Given the description of an element on the screen output the (x, y) to click on. 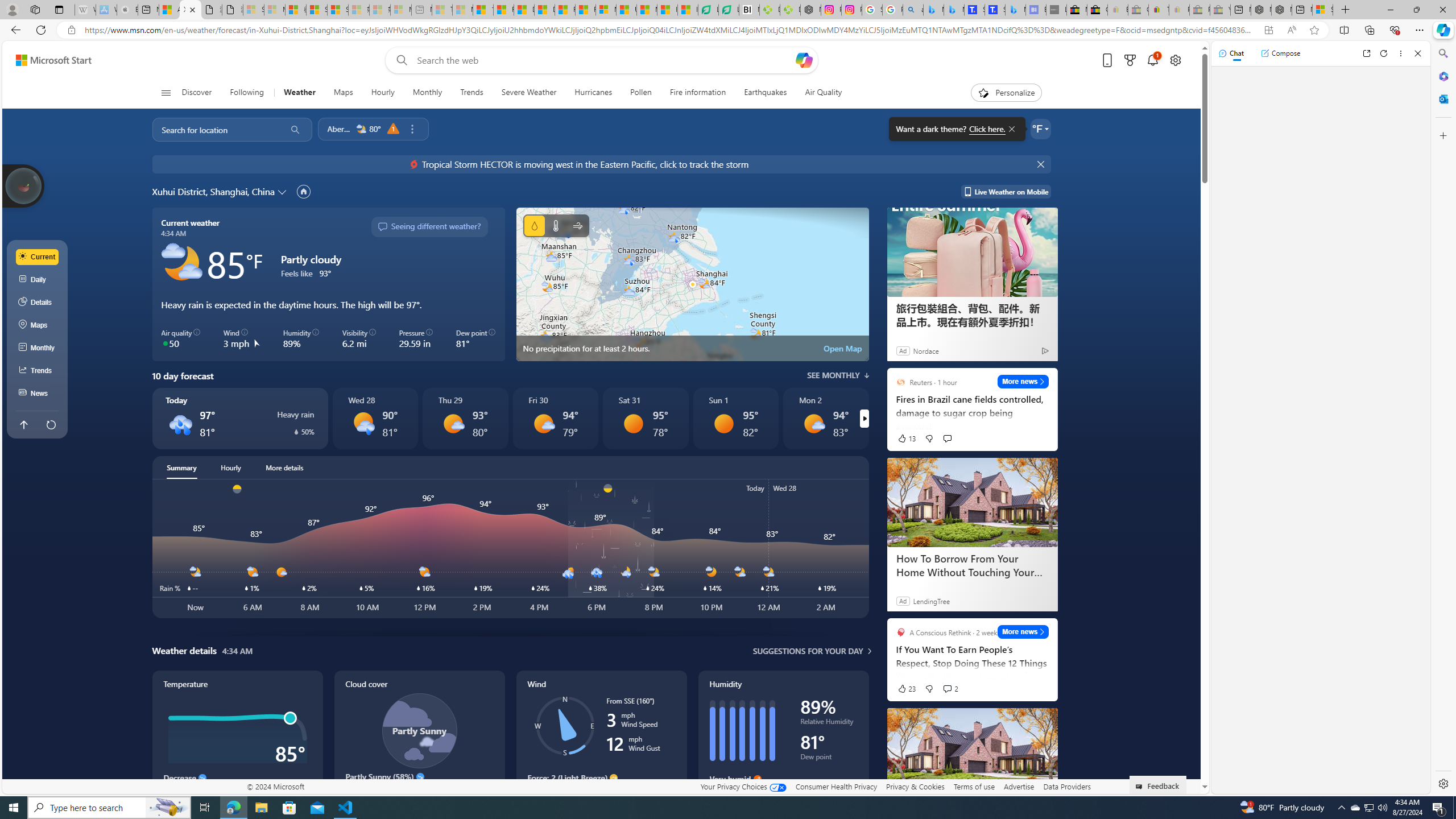
Pollen (641, 92)
Trends (37, 370)
Descarga Driver Updater (789, 9)
Fire information (698, 92)
Maps (343, 92)
Threats and offensive language policy | eBay (1158, 9)
Weather settings Want a dark theme?Click here. (1040, 128)
Trends (471, 92)
Temperature (237, 741)
static map image of vector map (692, 284)
Hourly (382, 92)
